Given the description of an element on the screen output the (x, y) to click on. 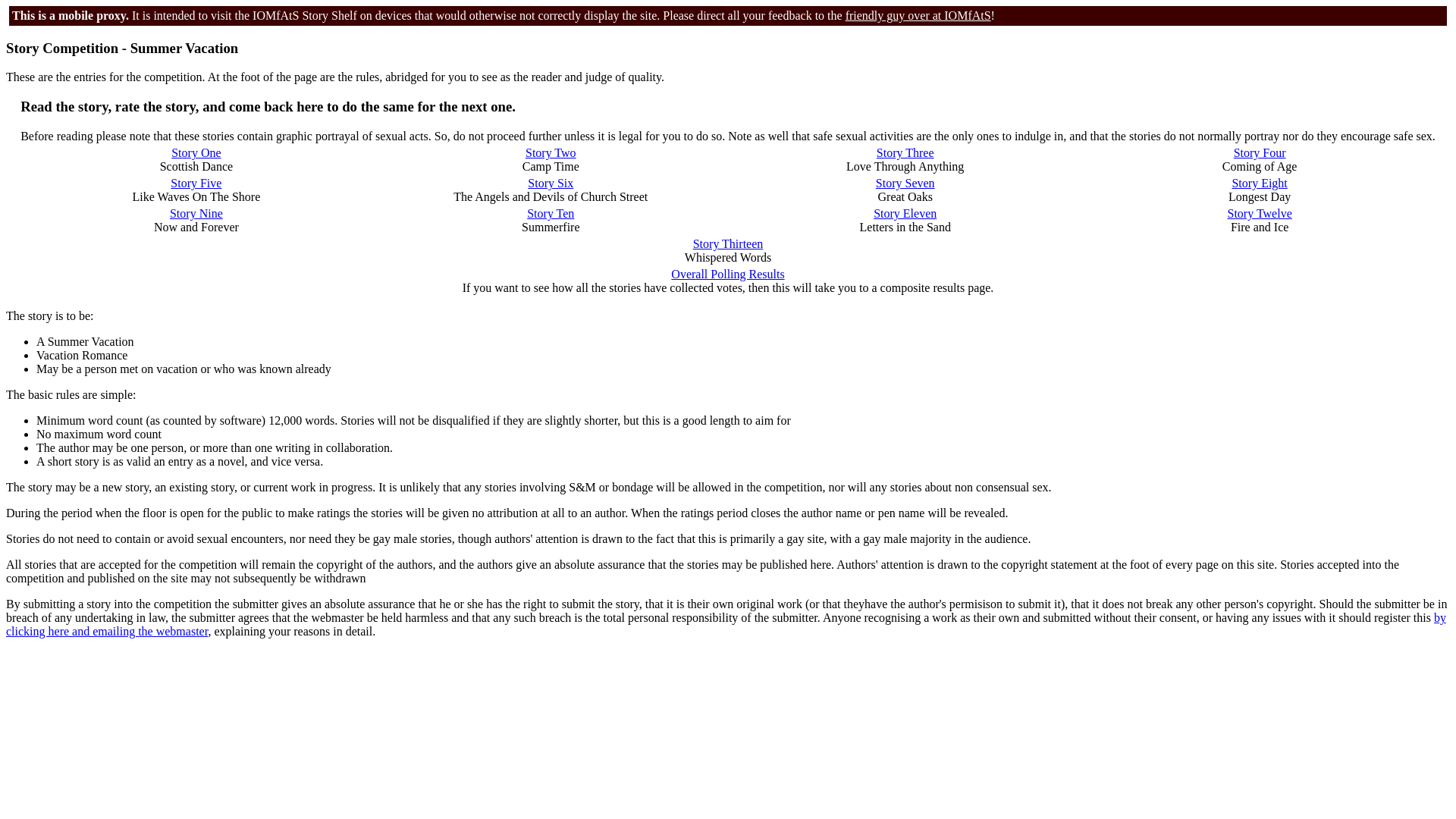
Story Twelve (1259, 213)
Story Thirteen (727, 243)
Story One (196, 152)
Story Ten (550, 213)
Overall Polling Results (727, 273)
Story Three (905, 152)
Story Eight (1259, 182)
Story Eleven (904, 213)
Story Five (195, 182)
by clicking here and emailing the webmaster (725, 624)
Story Nine (196, 213)
Story Two (550, 152)
Story Four (1259, 152)
friendly guy over at IOMfAtS (918, 15)
Story Seven (905, 182)
